Given the description of an element on the screen output the (x, y) to click on. 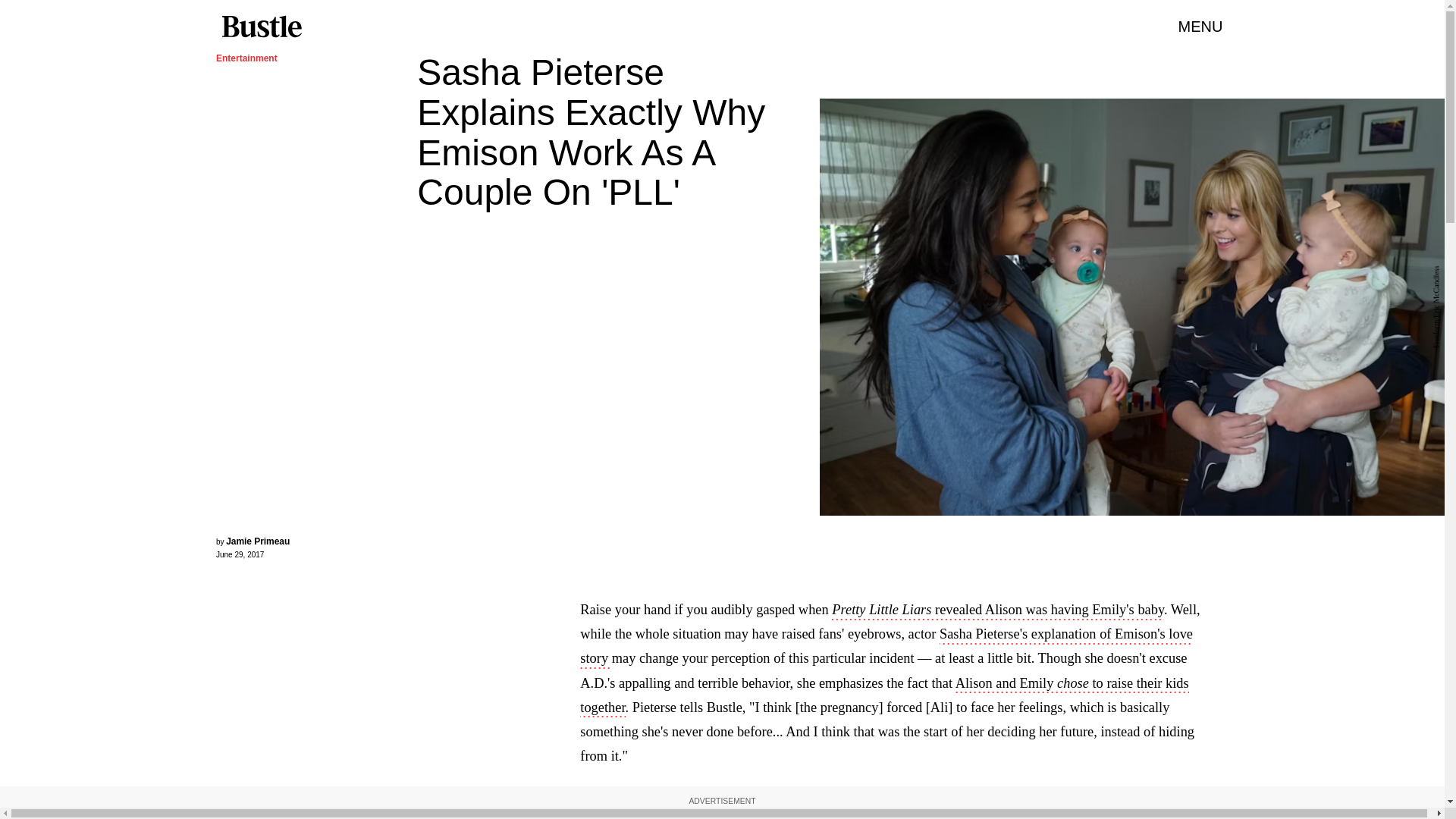
Jamie Primeau (257, 541)
Sasha Pieterse's explanation of Emison's love story (885, 647)
Bustle (261, 26)
Pretty Little Liars revealed Alison was having Emily's baby (997, 610)
Alison and Emily chose to raise their kids together (883, 696)
